Given the description of an element on the screen output the (x, y) to click on. 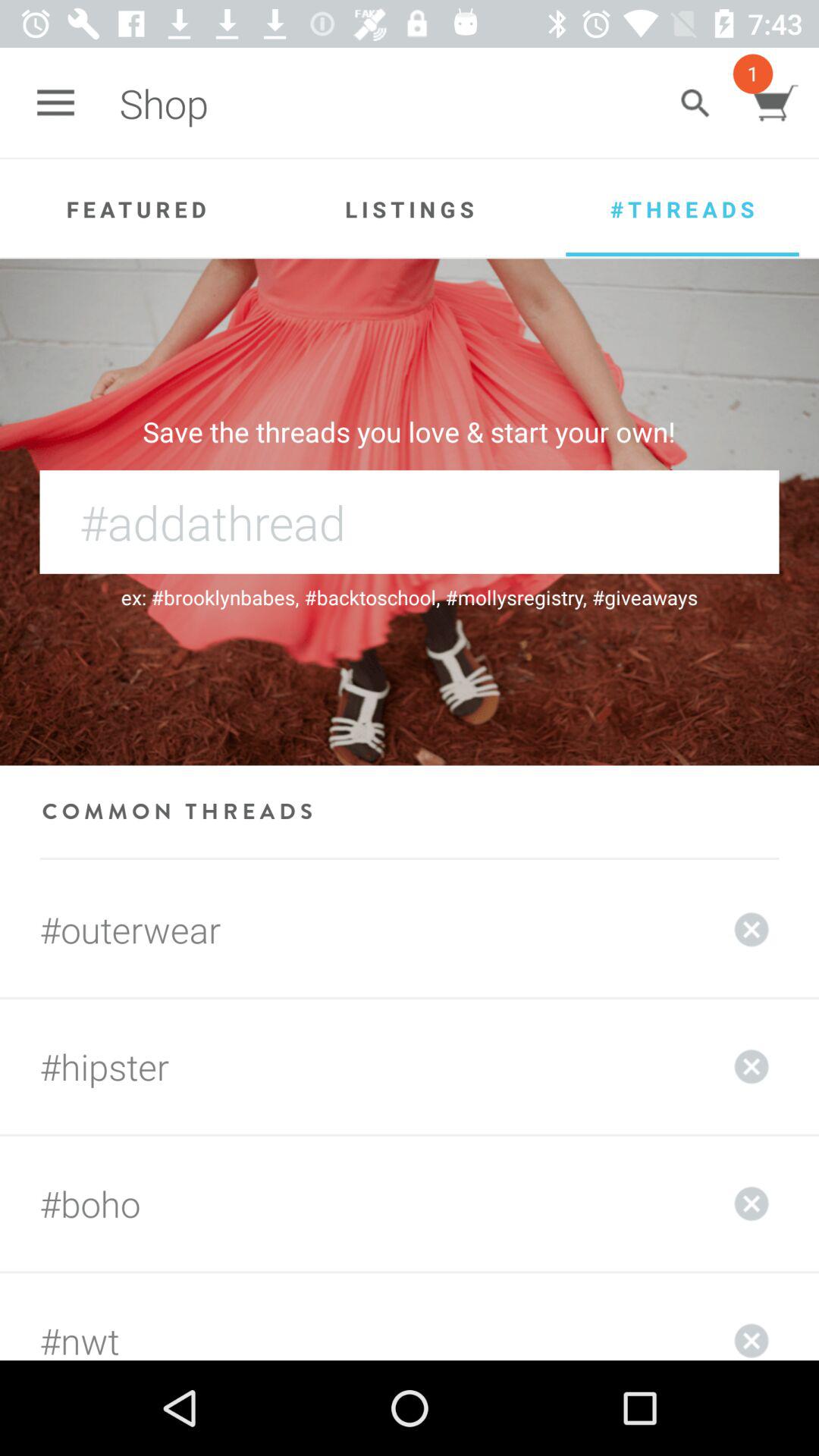
delete selected item (751, 1316)
